Given the description of an element on the screen output the (x, y) to click on. 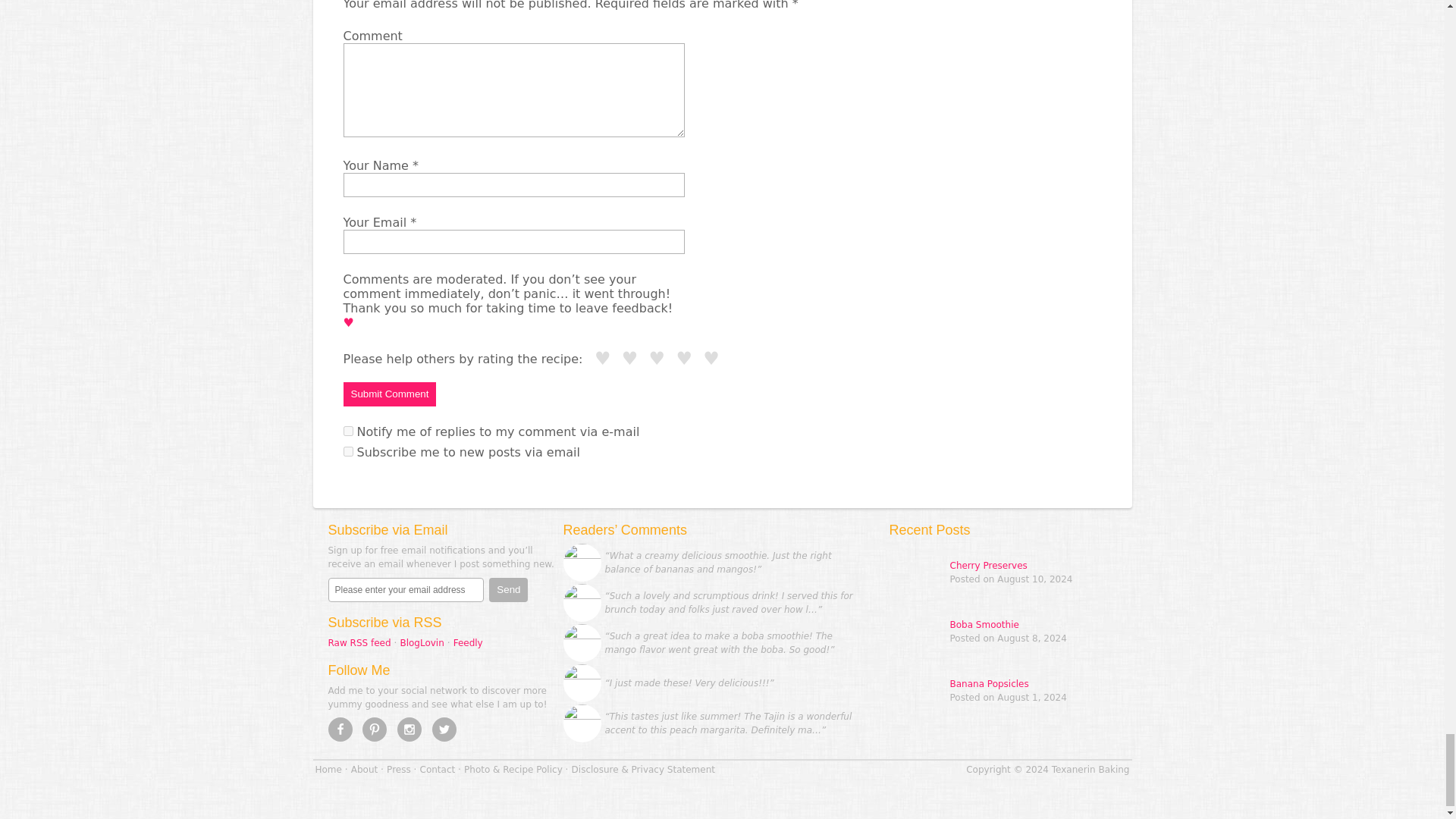
Good (684, 359)
Kinda bad (631, 359)
Okay (657, 359)
Submit Comment (388, 394)
Yummy!! (712, 359)
Don't like it at all (603, 359)
Send (508, 589)
subscribe (347, 451)
